Given the description of an element on the screen output the (x, y) to click on. 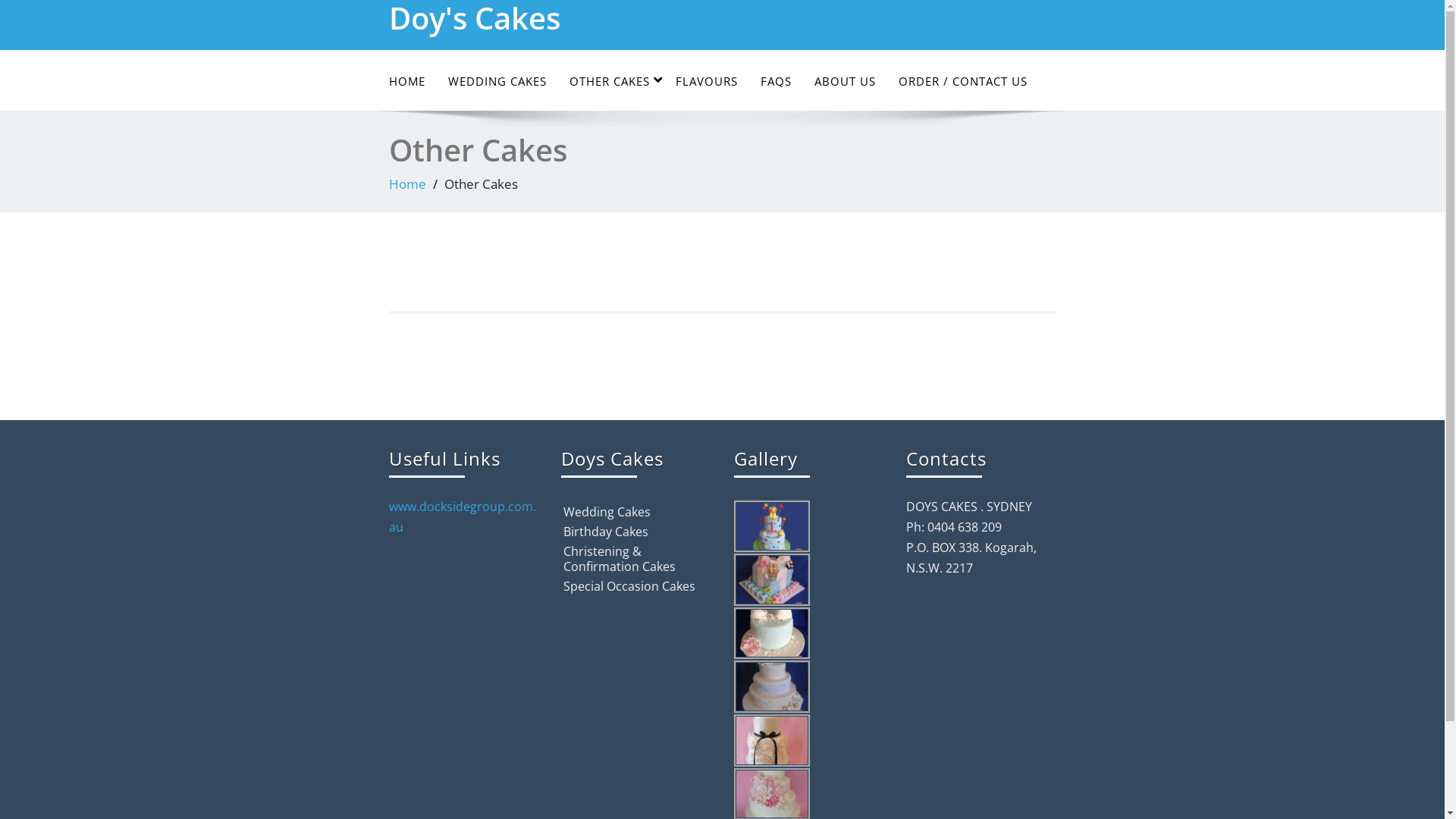
c12 Element type: hover (771, 579)
Christening & Confirmation Cakes Element type: text (619, 558)
Doy's Cakes Element type: text (549, 18)
w17 Element type: hover (771, 633)
OTHER CAKES Element type: text (611, 81)
ABOUT US Element type: text (844, 81)
ORDER / CONTACT US Element type: text (962, 81)
Home Element type: text (406, 183)
HOME Element type: text (406, 81)
b02 Element type: hover (771, 526)
WEDDING CAKES Element type: text (497, 81)
w41 Element type: hover (771, 740)
FLAVOURS Element type: text (706, 81)
w30 Element type: hover (771, 686)
www.docksidegroup.com.au Element type: text (461, 515)
Special Occasion Cakes Element type: text (629, 585)
Birthday Cakes Element type: text (605, 531)
Wedding Cakes Element type: text (606, 511)
FAQS Element type: text (776, 81)
